Given the description of an element on the screen output the (x, y) to click on. 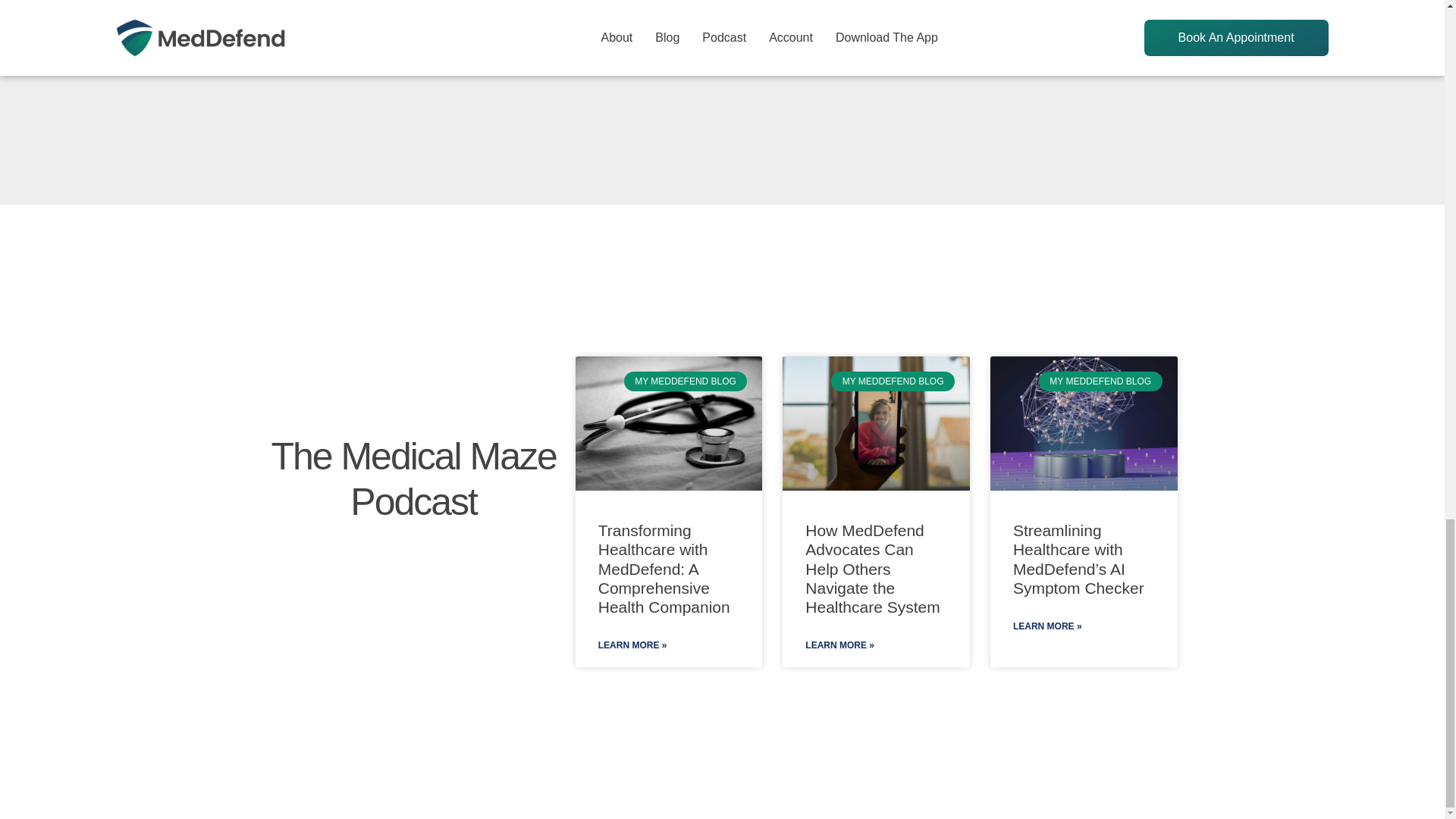
View All Podcast Episodes (372, 569)
